Given the description of an element on the screen output the (x, y) to click on. 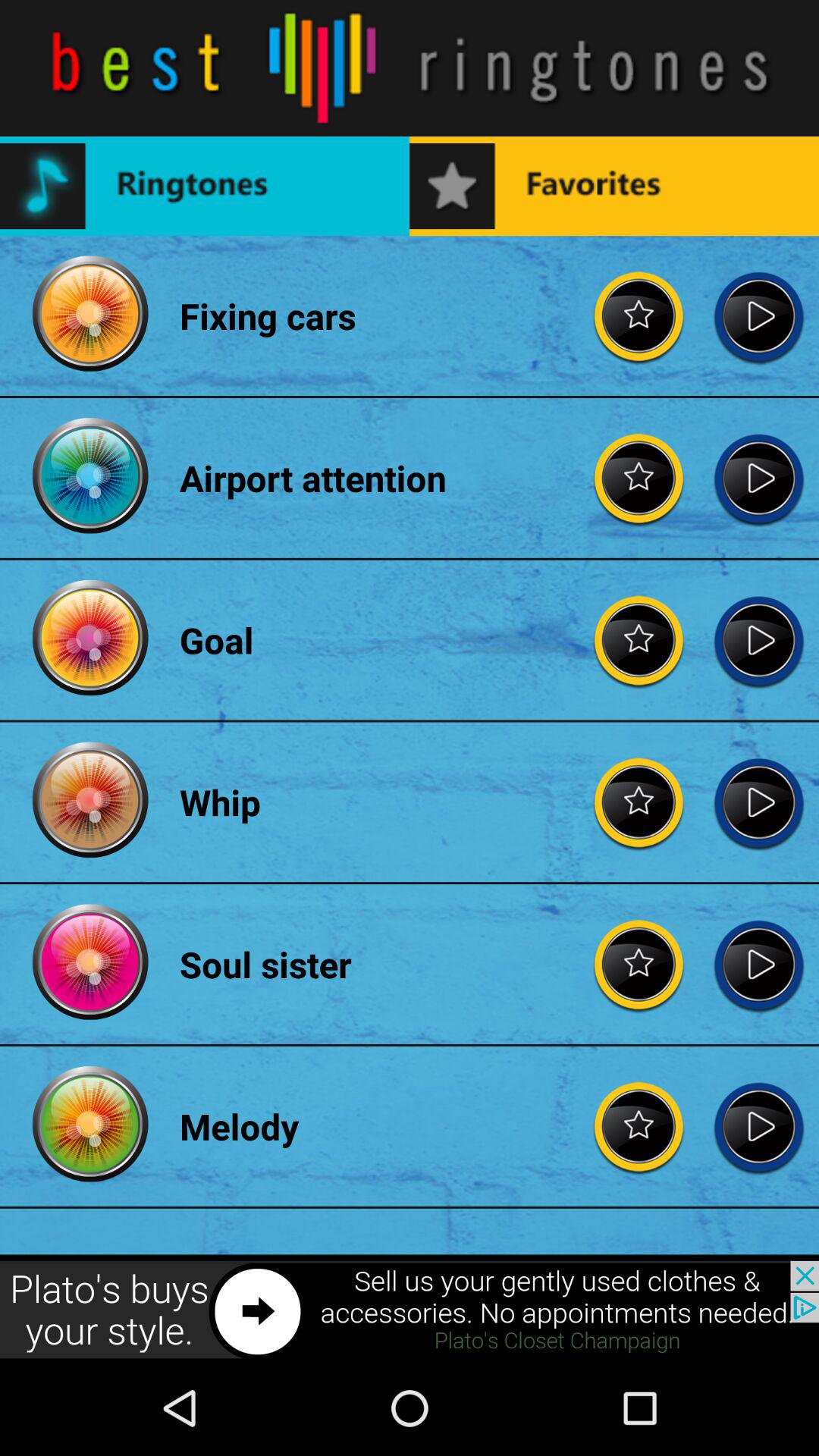
play the article (758, 315)
